Given the description of an element on the screen output the (x, y) to click on. 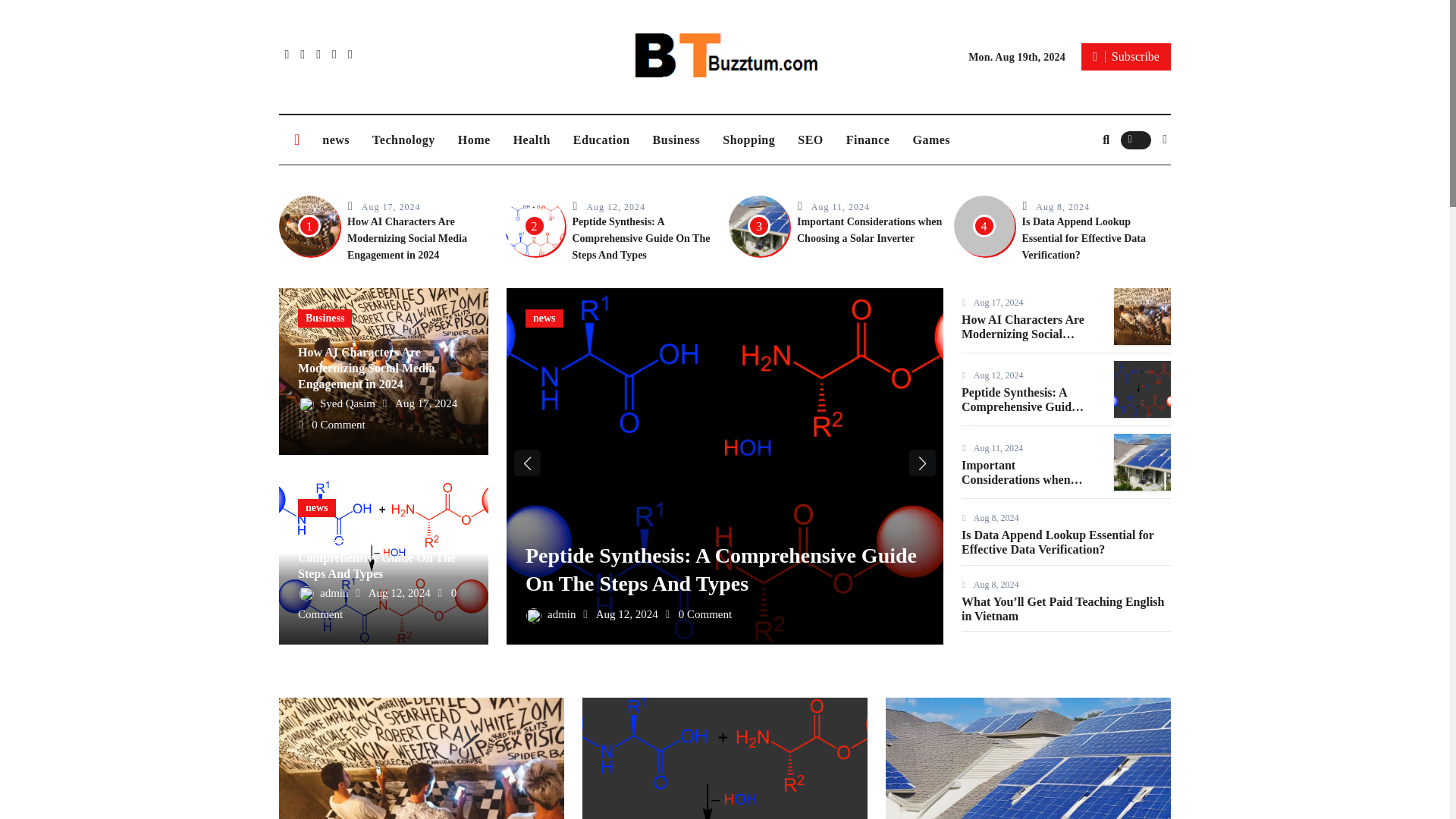
Health (532, 139)
Aug 12, 2024 (615, 206)
Business (676, 139)
SEO (810, 139)
Business (325, 318)
Education (602, 139)
Games (930, 139)
Important Considerations when Choosing a Solar Inverter (869, 230)
Shopping (748, 139)
